Given the description of an element on the screen output the (x, y) to click on. 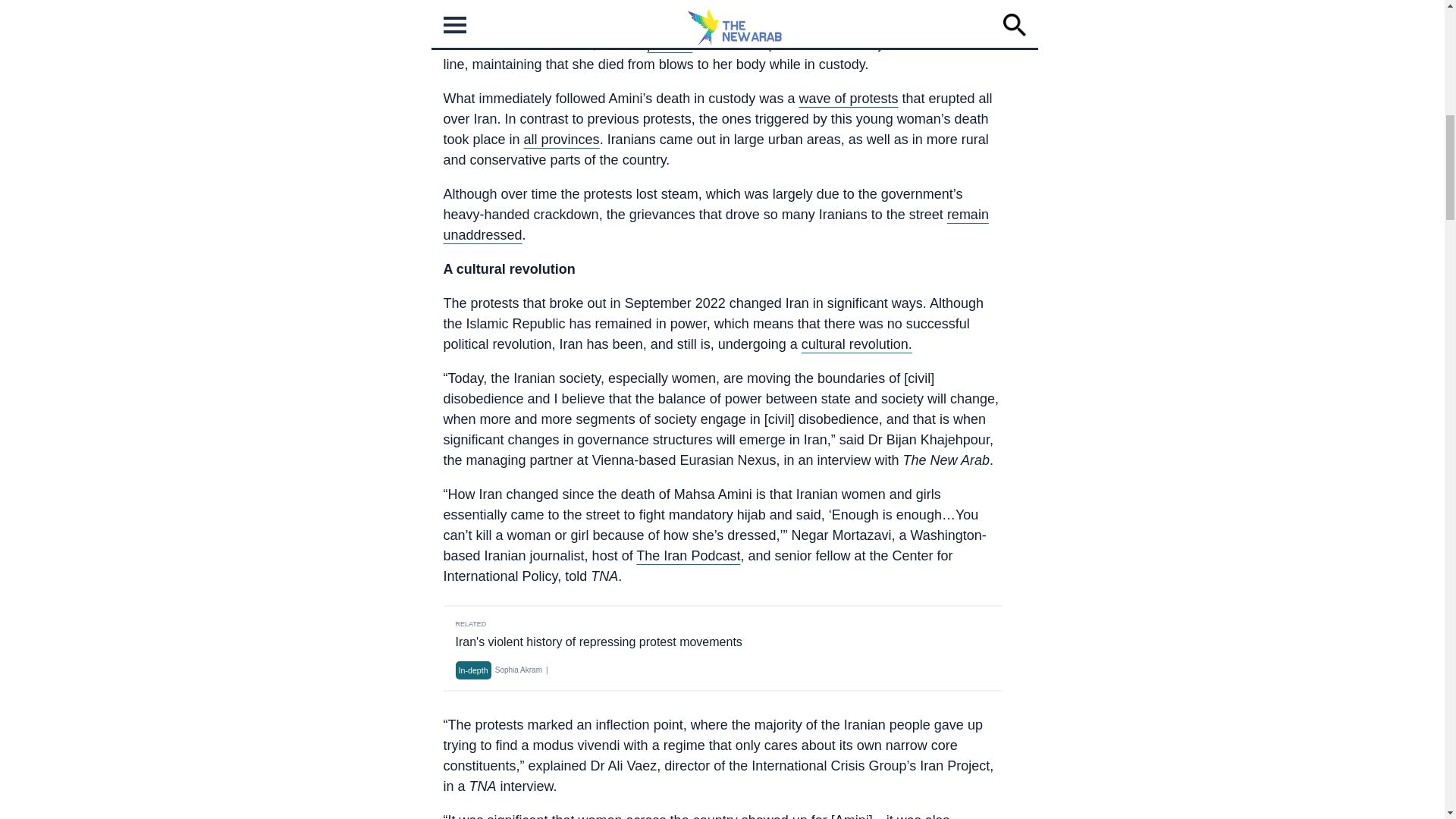
claim (611, 23)
The Iran Podcast (687, 555)
wave of protests (847, 98)
remain unaddressed (715, 224)
Iran's violent history of repressing protest movements (597, 641)
all provinces (561, 139)
cultural revolution. (857, 344)
Iran's violent history of repressing protest movements (597, 641)
parents (669, 43)
